Given the description of an element on the screen output the (x, y) to click on. 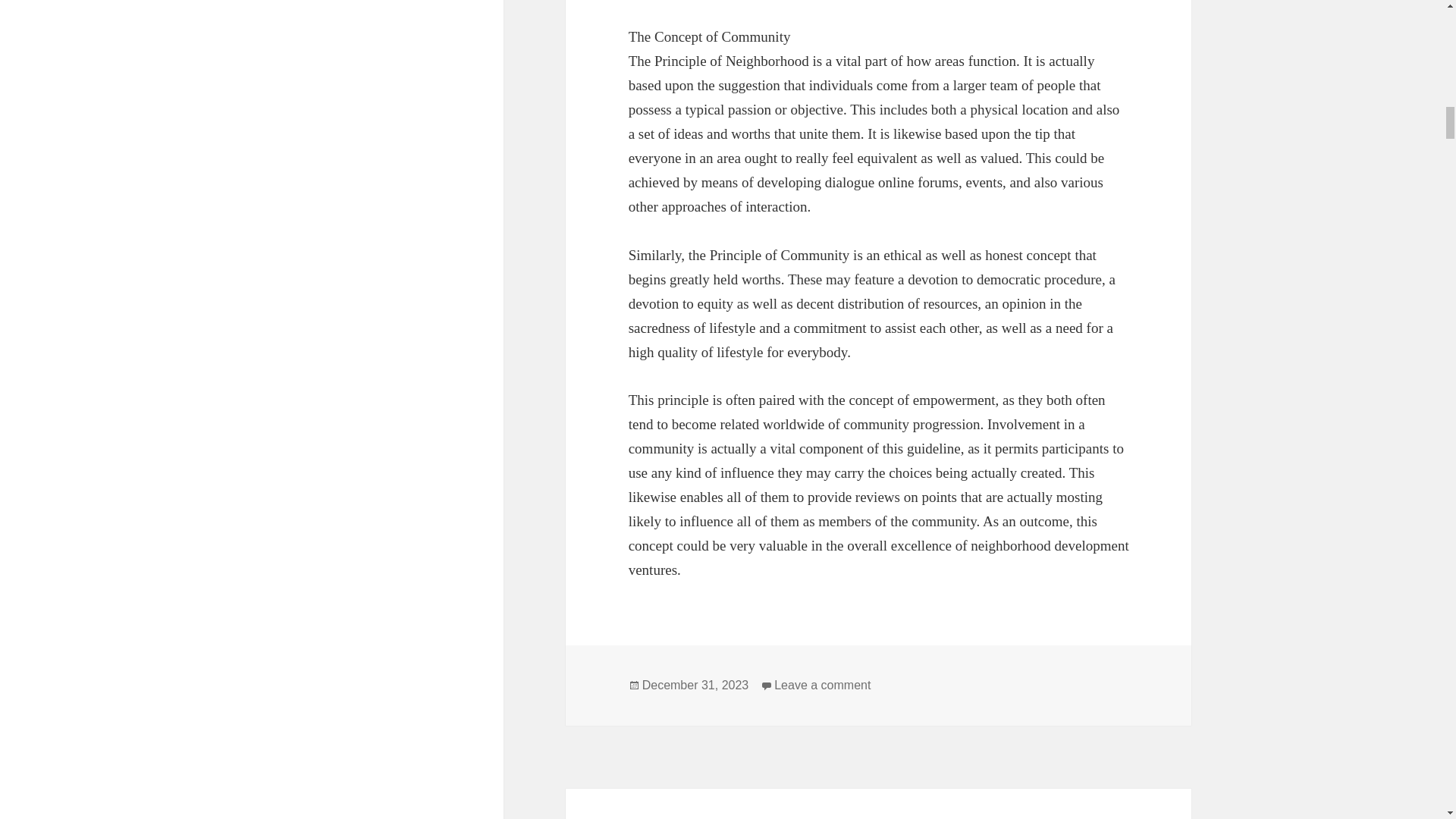
December 31, 2023 (695, 685)
